Given the description of an element on the screen output the (x, y) to click on. 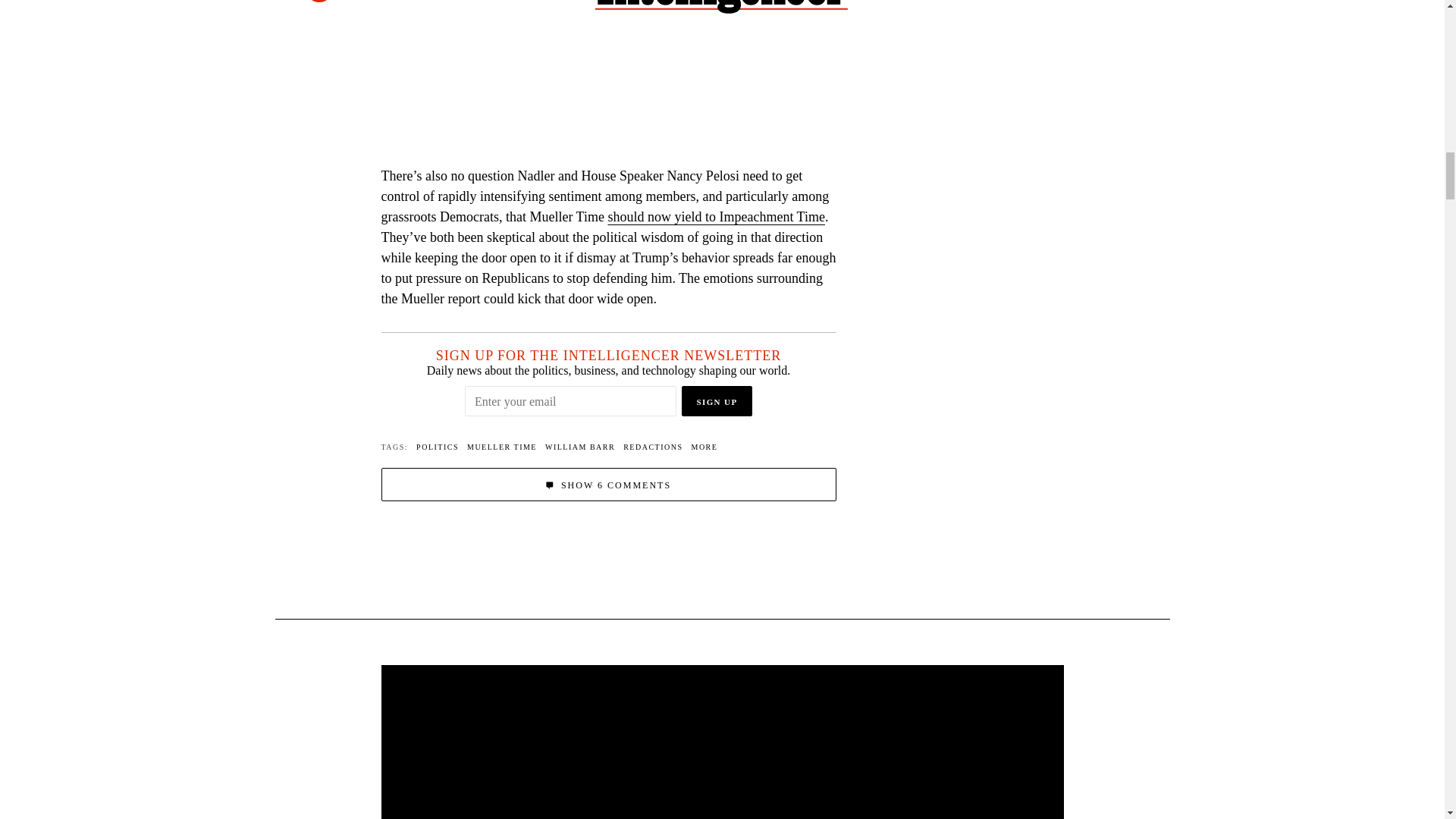
Sign up (716, 400)
